Given the description of an element on the screen output the (x, y) to click on. 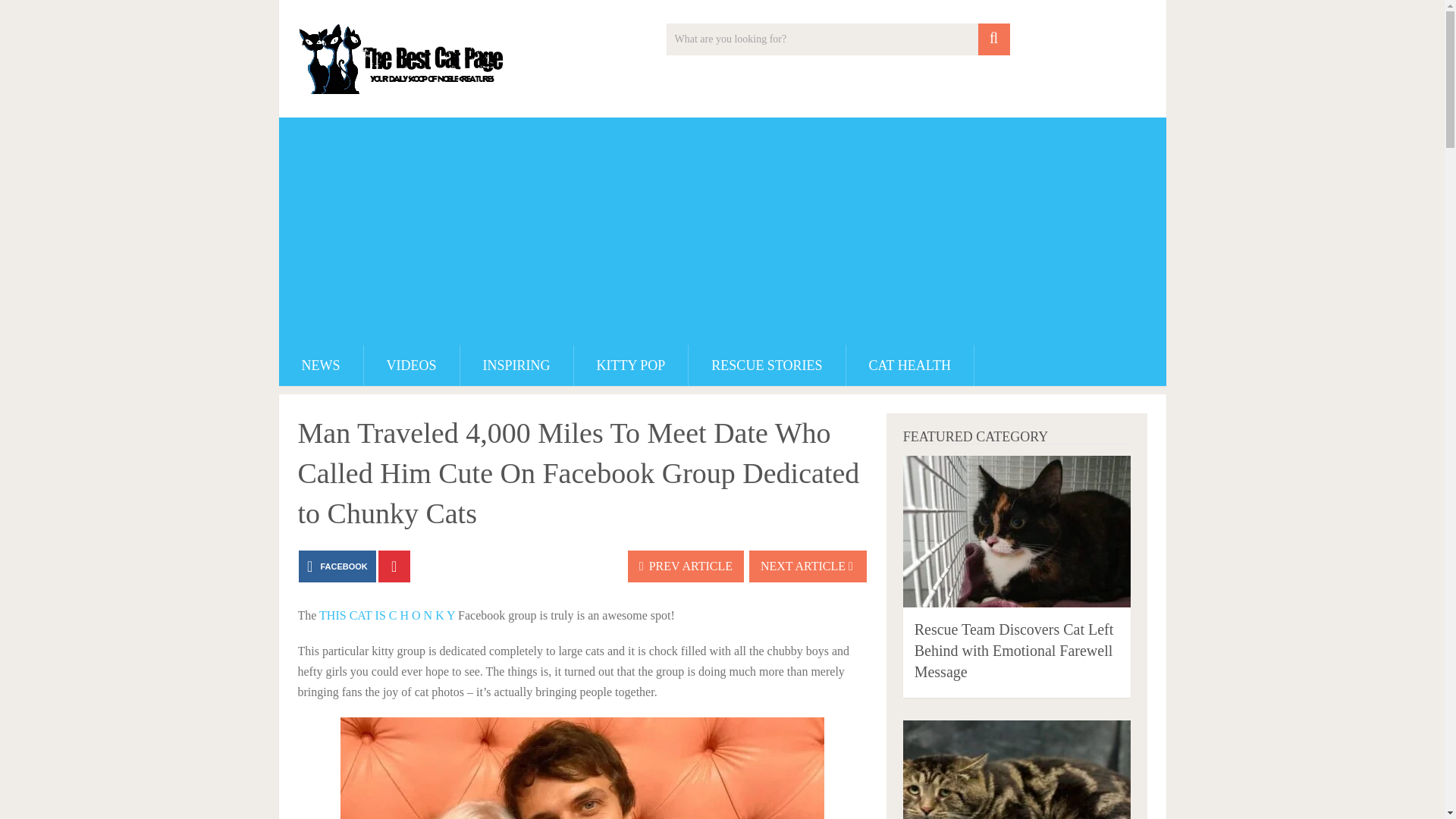
RESCUE STORIES (766, 364)
NEWS (320, 364)
THIS CAT IS C H O N K Y (386, 615)
VIDEOS (412, 364)
KITTY POP (630, 364)
PREV ARTICLE (685, 566)
INSPIRING (516, 364)
FACEBOOK (336, 566)
CAT HEALTH (909, 364)
NEXT ARTICLE (807, 566)
